Given the description of an element on the screen output the (x, y) to click on. 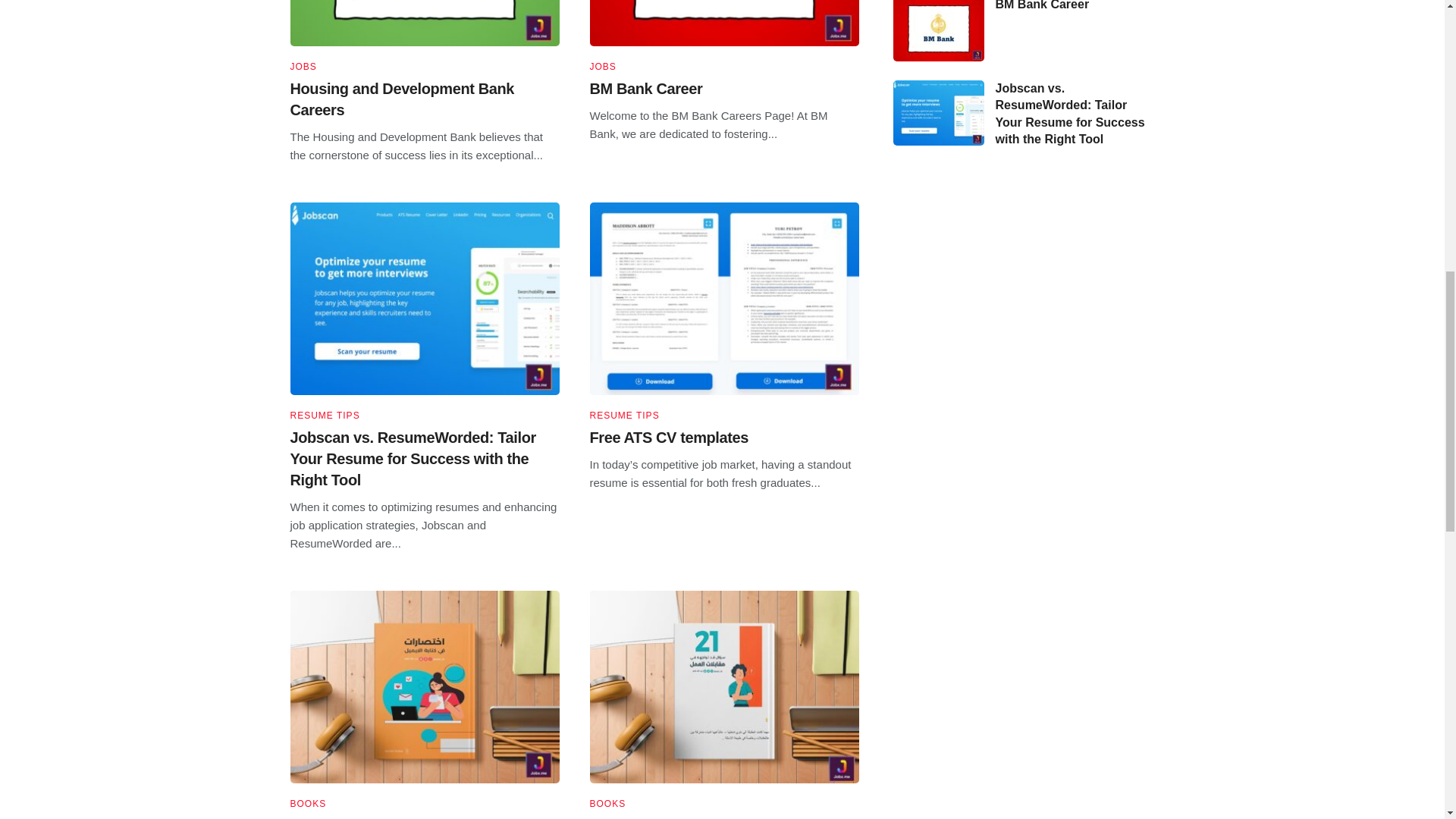
RESUME TIPS (624, 415)
BM Bank Career (646, 88)
RESUME TIPS (324, 415)
JOBS (602, 66)
Housing and Development Bank Careers (401, 98)
JOBS (302, 66)
